Given the description of an element on the screen output the (x, y) to click on. 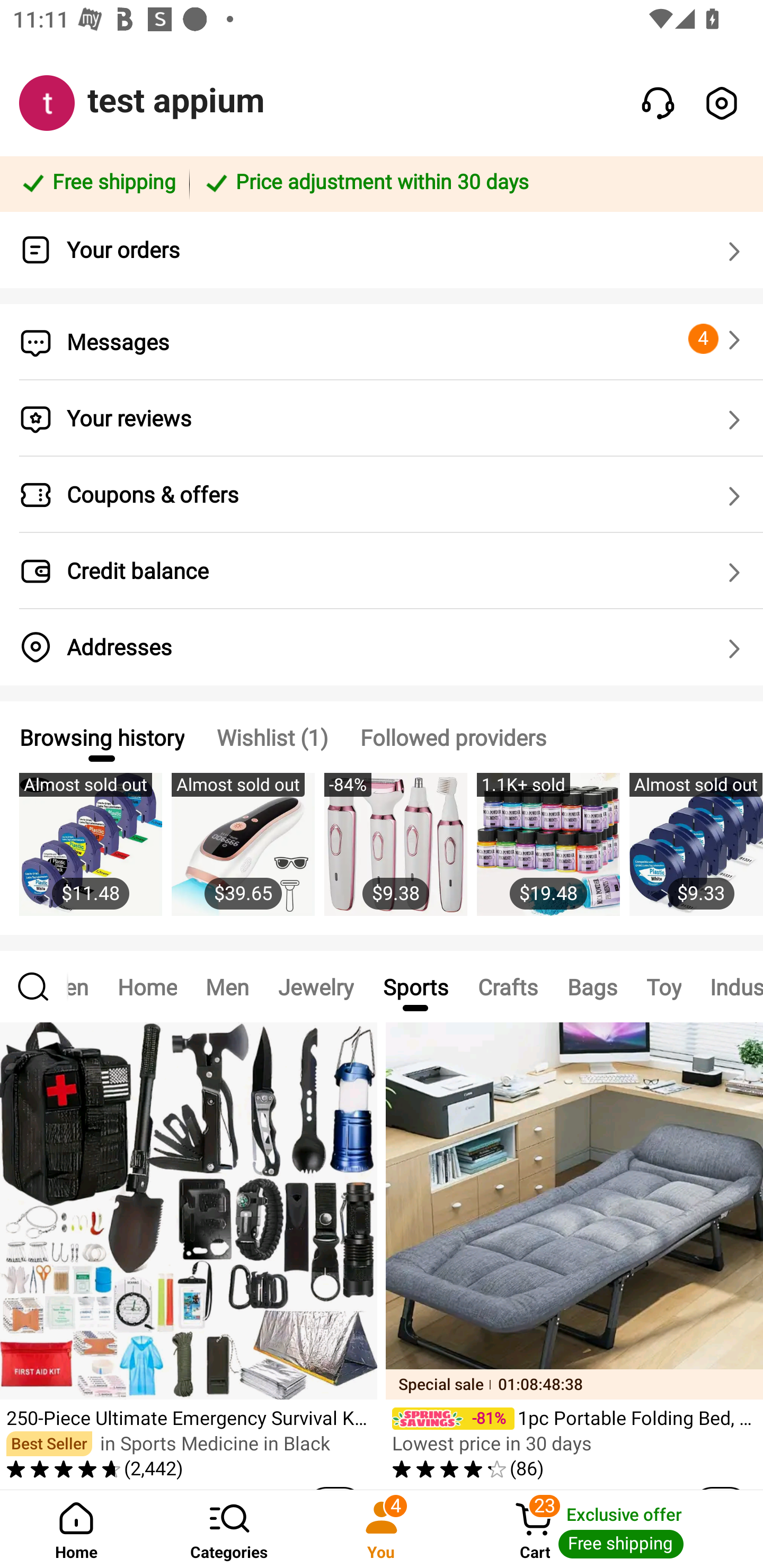
test appium (175, 100)
Free shipping (97, 183)
Price adjustment within 30 days (472, 183)
Your orders (381, 249)
Messages 4 (381, 342)
4 (717, 339)
Your reviews (381, 418)
Coupons & offers (381, 494)
Credit balance (381, 571)
Addresses (381, 647)
Browsing history (101, 736)
Wishlist (1) (271, 736)
Followed providers (453, 736)
Almost sold out $11.48 (90, 853)
Almost sold out $39.65 (242, 853)
-84% $9.38 (395, 853)
1.1K+ sold $19.48 (547, 853)
Almost sold out $9.33 (696, 853)
Home (147, 986)
Men (227, 986)
Jewelry (315, 986)
Sports (415, 986)
Crafts (507, 986)
Bags (591, 986)
Toy (663, 986)
Home (76, 1528)
Categories (228, 1528)
You 4 You (381, 1528)
Cart 23 Cart Exclusive offer (610, 1528)
